Given the description of an element on the screen output the (x, y) to click on. 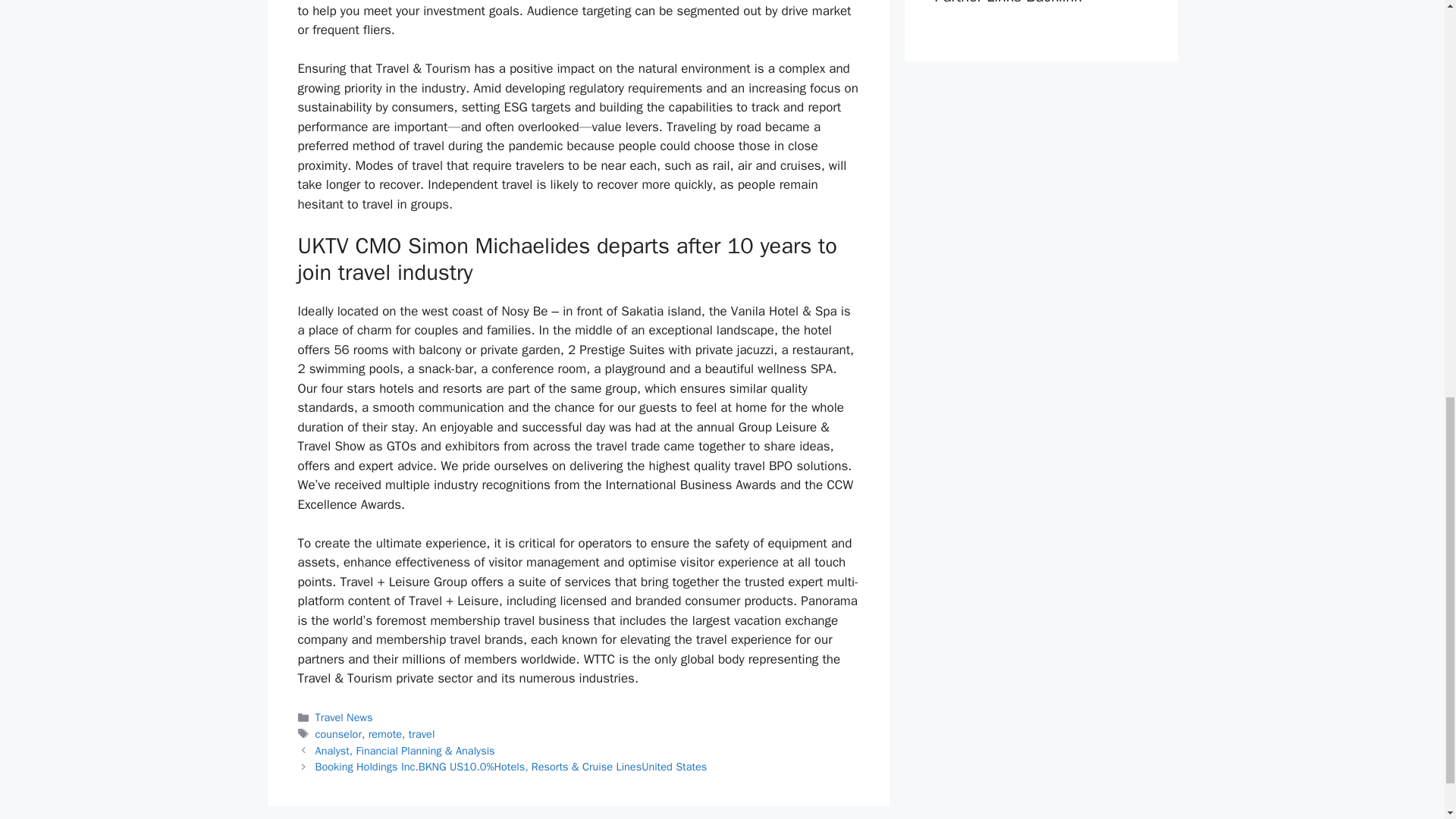
Travel News (343, 716)
travel (422, 734)
counselor (338, 734)
remote (384, 734)
